Given the description of an element on the screen output the (x, y) to click on. 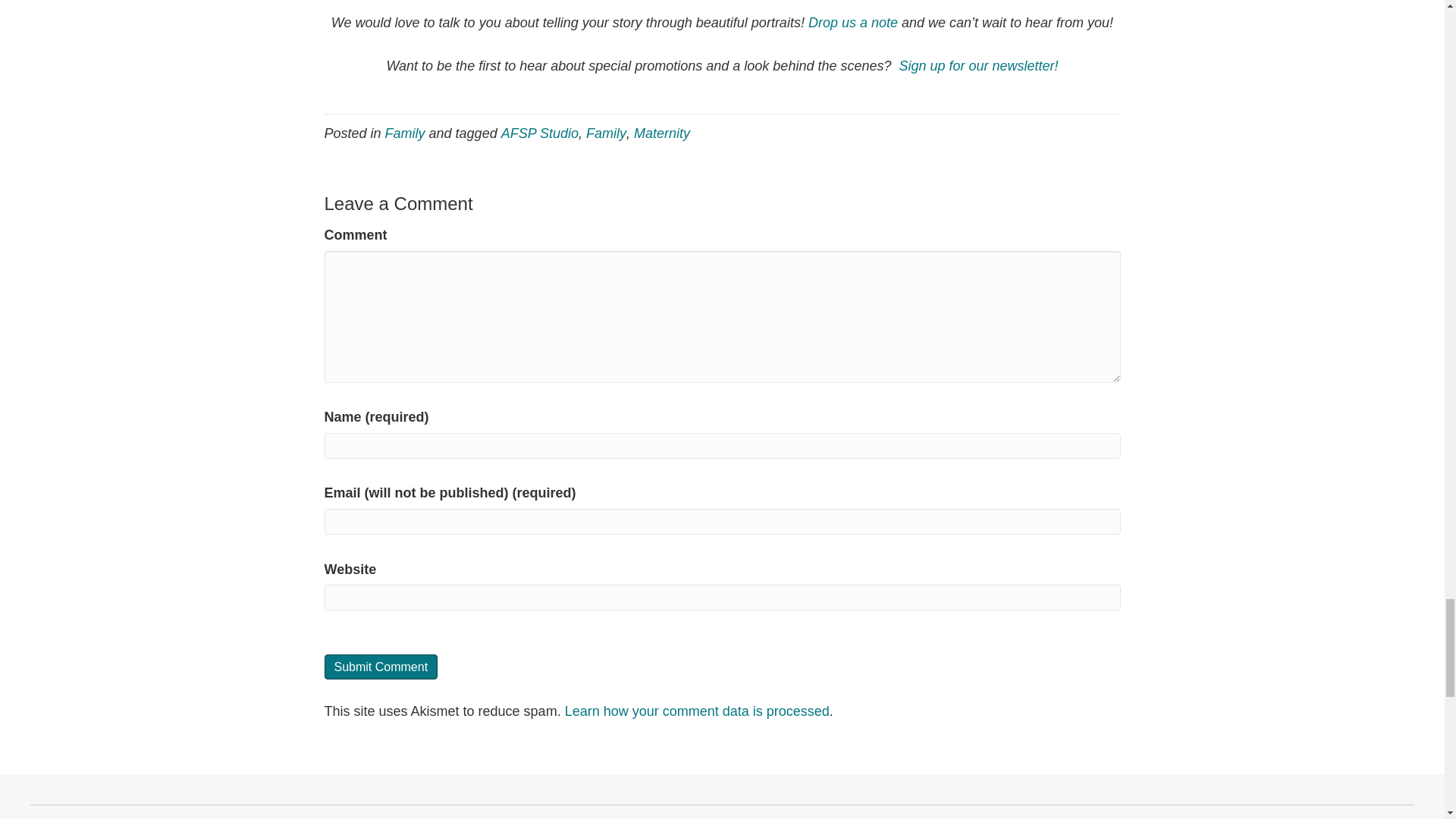
Submit Comment (381, 666)
Drop us a note (853, 22)
Learn how your comment data is processed (696, 711)
Sign up for our newsletter! (978, 65)
Family (606, 133)
Maternity (661, 133)
Submit Comment (381, 666)
Family (405, 133)
AFSP Studio (539, 133)
